Given the description of an element on the screen output the (x, y) to click on. 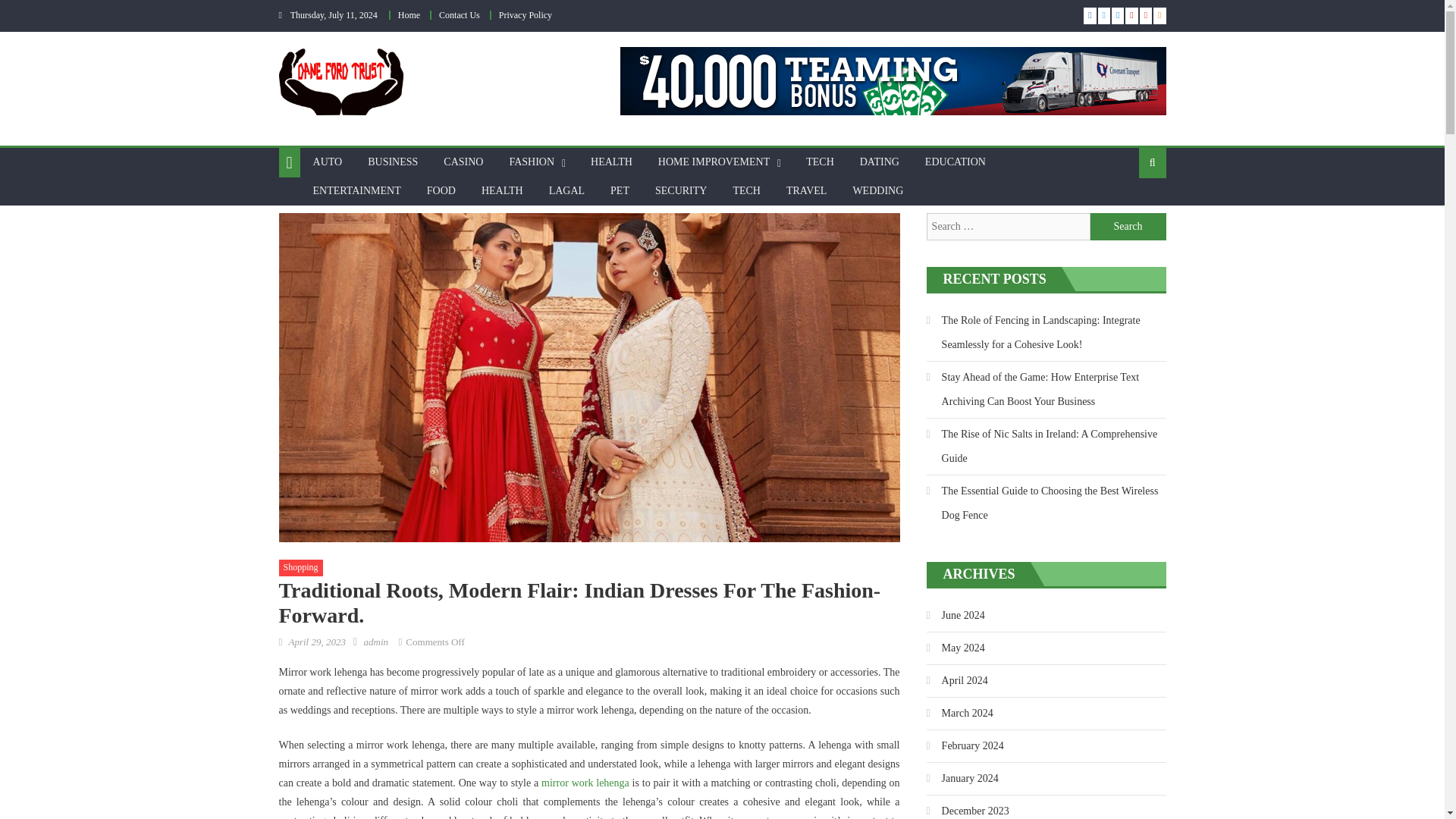
HEALTH (611, 162)
BUSINESS (392, 162)
Privacy Policy (525, 14)
CASINO (463, 162)
LAGAL (566, 190)
FASHION (531, 162)
April 29, 2023 (316, 641)
HEALTH (502, 190)
DATING (879, 162)
admin (376, 641)
FOOD (440, 190)
Shopping (301, 567)
mirror work lehenga (584, 782)
Contact Us (459, 14)
HOME IMPROVEMENT (713, 162)
